Given the description of an element on the screen output the (x, y) to click on. 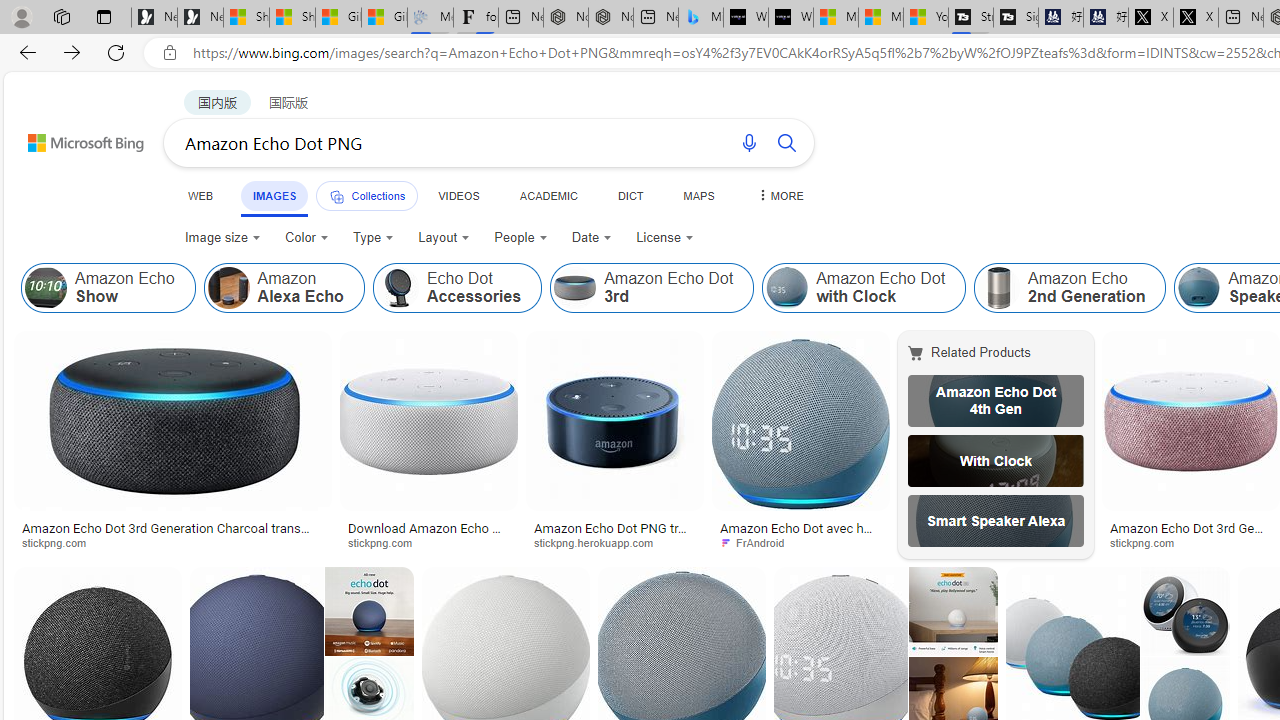
stickpng.com (1149, 541)
